Given the description of an element on the screen output the (x, y) to click on. 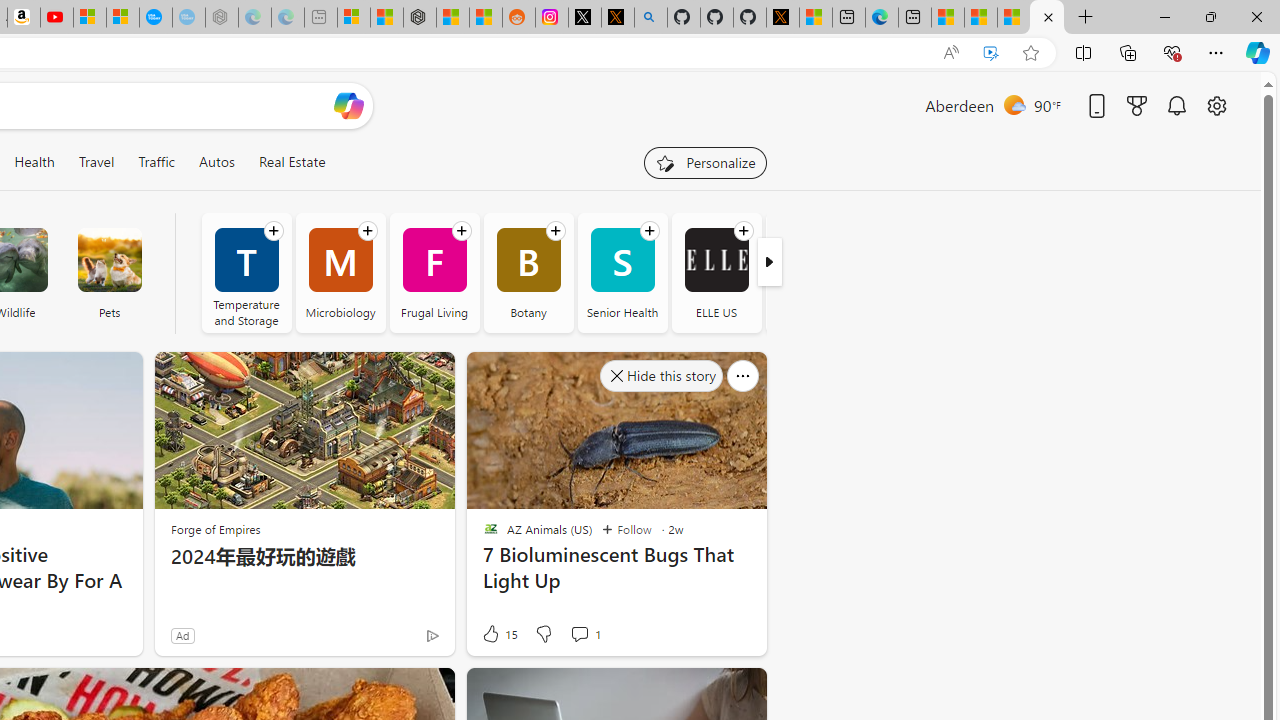
ELLE US (715, 272)
The most popular Google 'how to' searches - Sleeping (188, 17)
Hide this story (706, 691)
Personalize your feed" (704, 162)
help.x.com | 524: A timeout occurred (617, 17)
Nordace - Duffels (420, 17)
Traffic (156, 161)
